Given the description of an element on the screen output the (x, y) to click on. 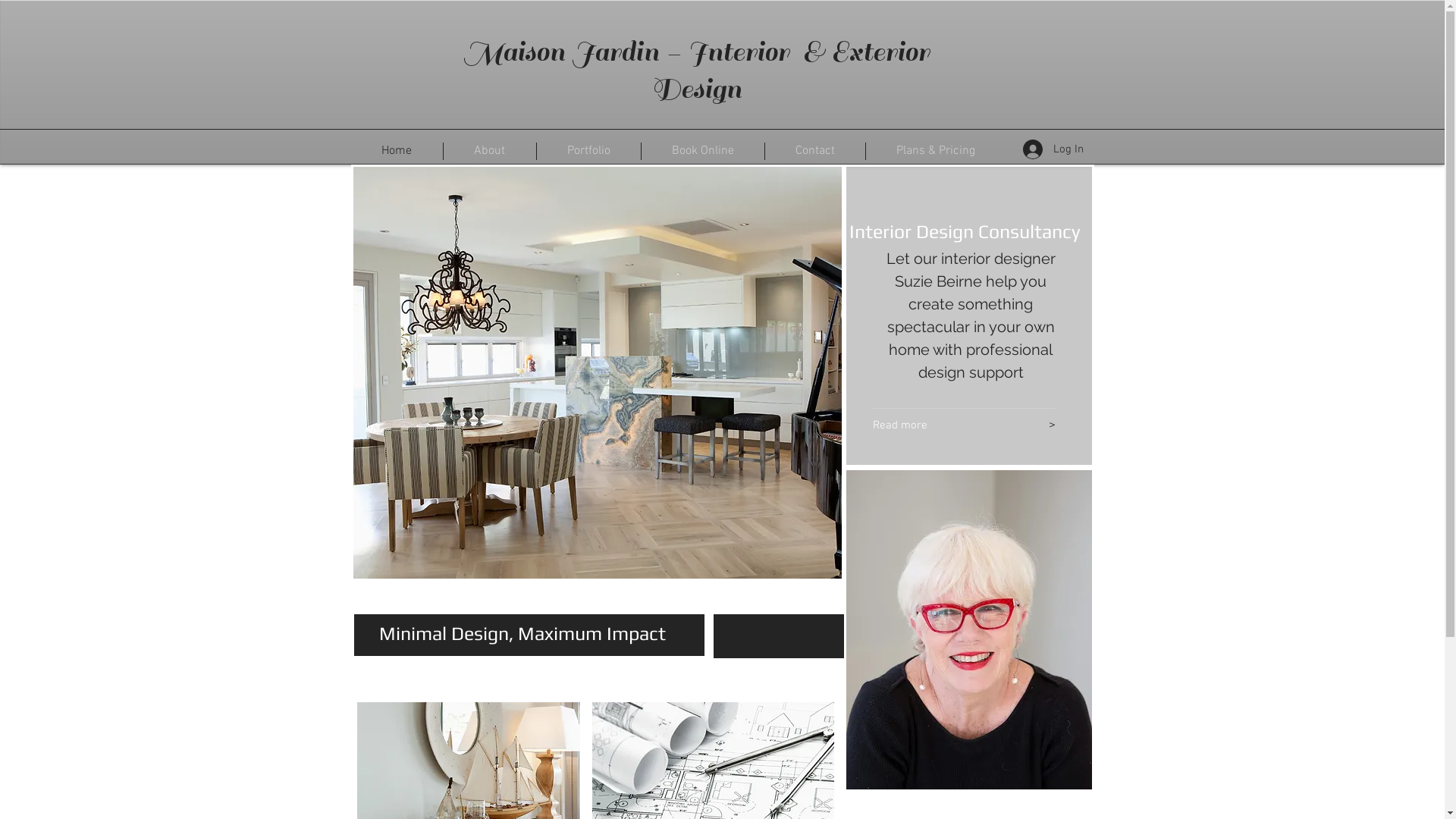
Contact Element type: text (814, 151)
About Element type: text (488, 151)
Read more Element type: text (938, 425)
Log In Element type: text (1052, 148)
Home Element type: text (396, 151)
Portfolio Element type: text (588, 151)
Plans & Pricing Element type: text (935, 151)
Book Online > Element type: text (776, 696)
Book Online Element type: text (702, 151)
Maison Jardin - Interior  & Exterior Design Element type: text (696, 70)
